Given the description of an element on the screen output the (x, y) to click on. 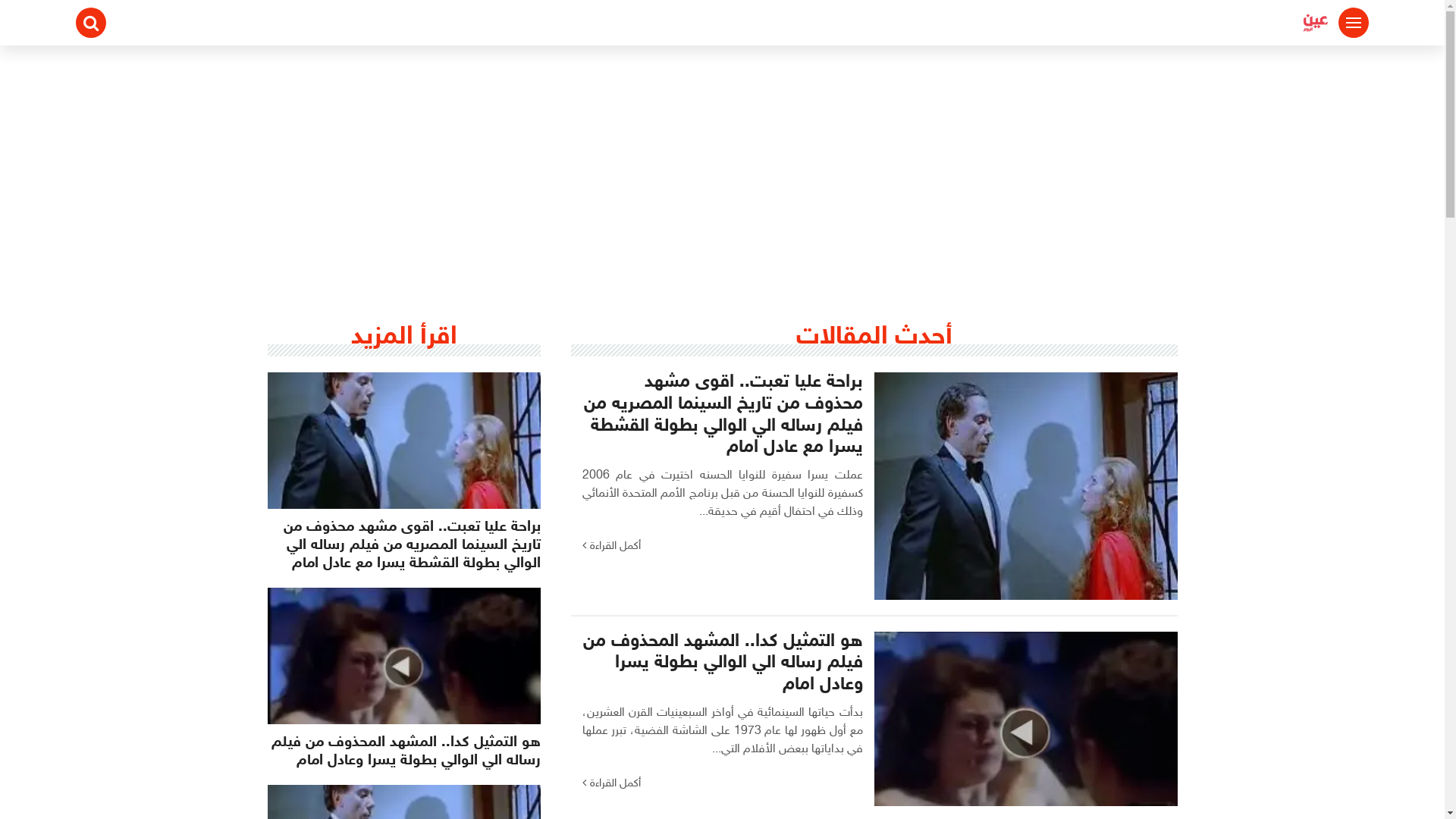
Advertisement Element type: hover (721, 159)
